Given the description of an element on the screen output the (x, y) to click on. 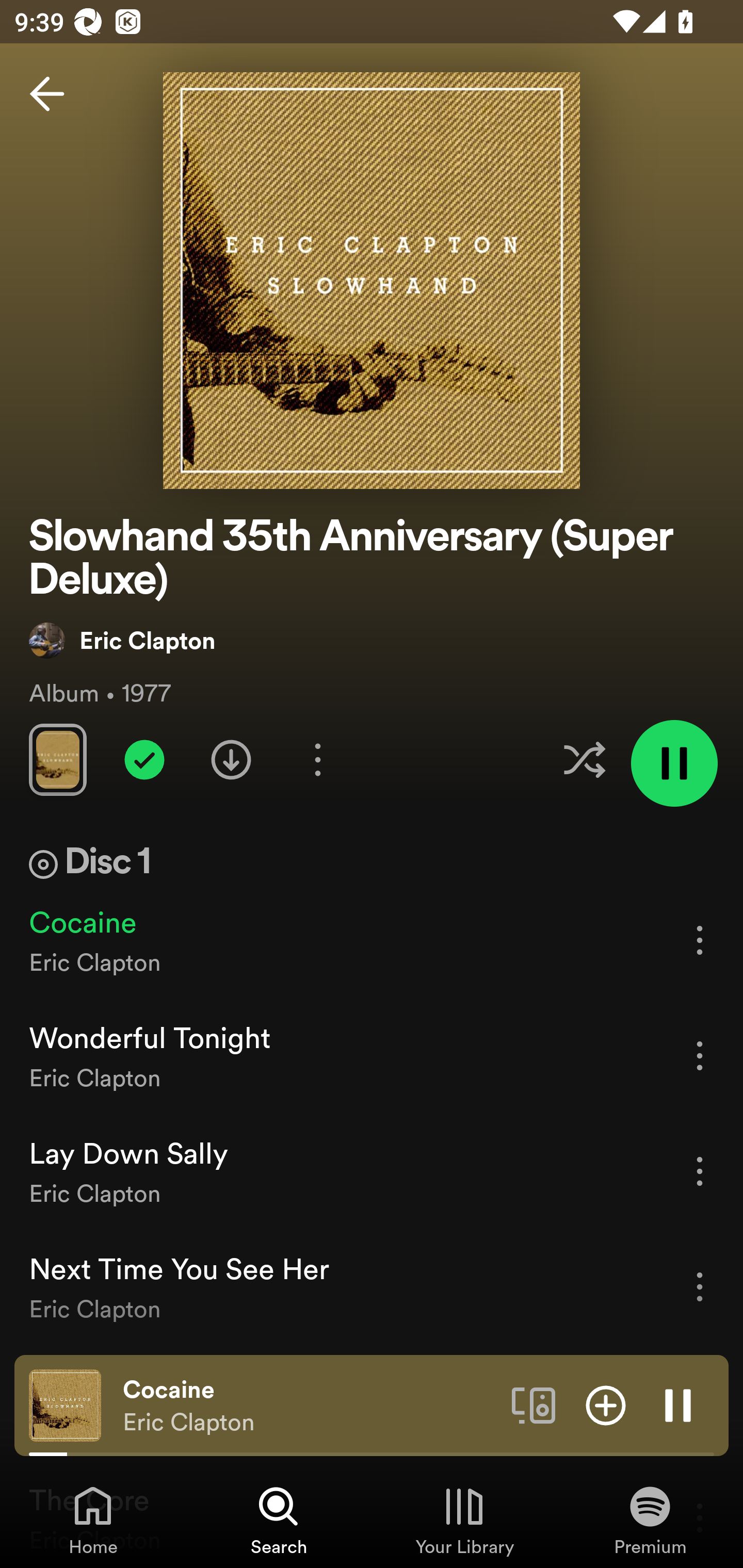
Back (46, 93)
Eric Clapton (122, 640)
Swipe through previews of tracks from this album. (57, 759)
playlist added to Your Library (144, 759)
Download (230, 759)
Enable shuffle for this playlist (583, 759)
Pause playlist (674, 763)
More options for song Cocaine (699, 939)
More options for song Wonderful Tonight (699, 1055)
More options for song Lay Down Sally (699, 1171)
More options for song Next Time You See Her (699, 1286)
Cocaine Eric Clapton (309, 1405)
The cover art of the currently playing track (64, 1404)
Connect to a device. Opens the devices menu (533, 1404)
Add item (605, 1404)
Pause (677, 1404)
Home, Tab 1 of 4 Home Home (92, 1519)
Search, Tab 2 of 4 Search Search (278, 1519)
Your Library, Tab 3 of 4 Your Library Your Library (464, 1519)
Premium, Tab 4 of 4 Premium Premium (650, 1519)
